Given the description of an element on the screen output the (x, y) to click on. 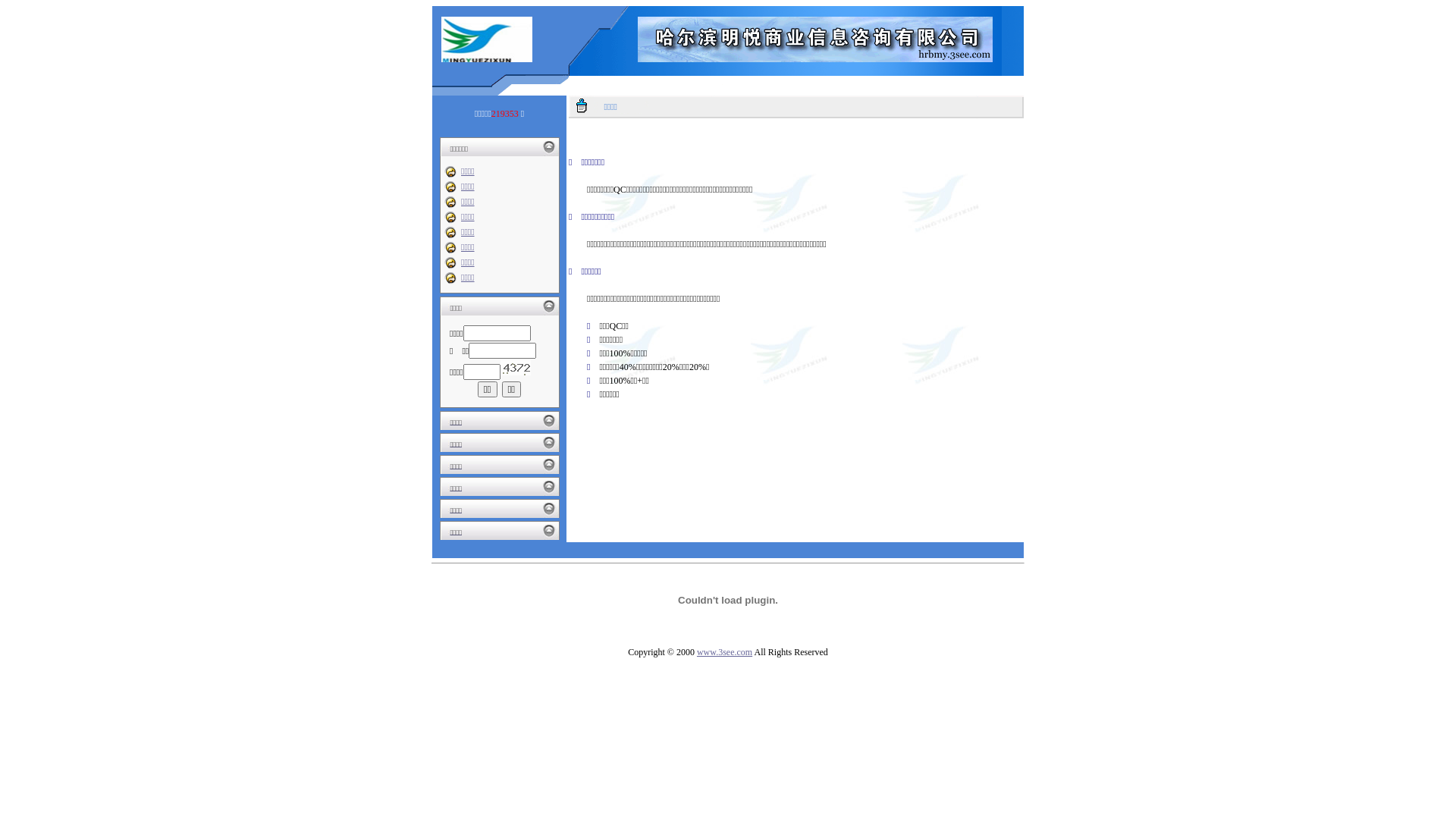
www.3see.com Element type: text (724, 651)
